Given the description of an element on the screen output the (x, y) to click on. 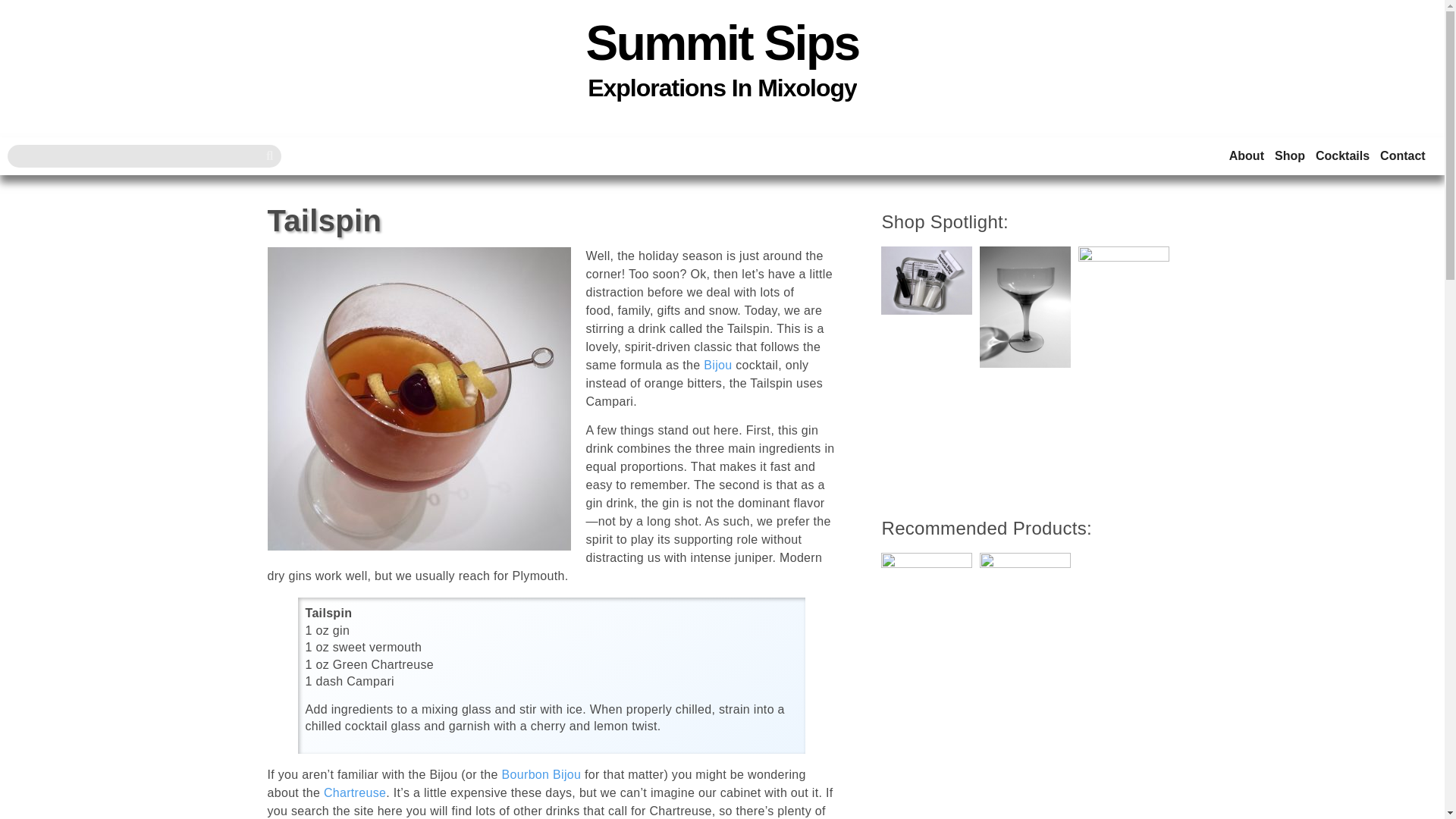
Cocktails (1343, 155)
Contact (1402, 155)
Summit Sips (722, 42)
Bijou (717, 364)
Bourbon Bijou (541, 774)
About (1245, 155)
Chartreuse (354, 792)
Shop (1289, 155)
